Given the description of an element on the screen output the (x, y) to click on. 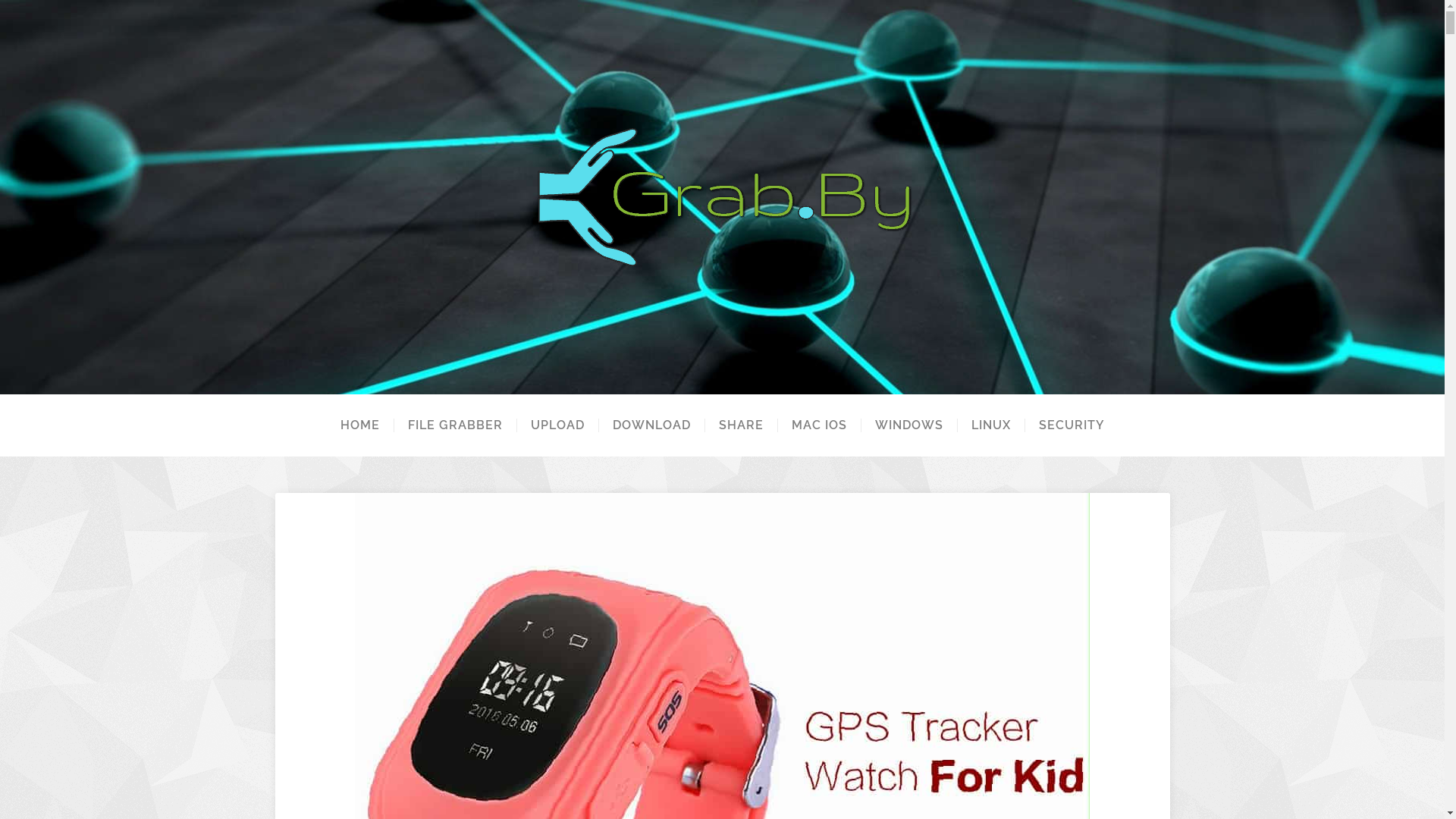
SECURITY Element type: text (1070, 425)
SHARE Element type: text (739, 425)
LINUX Element type: text (990, 425)
HOME Element type: text (359, 425)
DOWNLOAD Element type: text (650, 425)
FILE GRABBER Element type: text (453, 425)
MAC IOS Element type: text (817, 425)
UPLOAD Element type: text (556, 425)
Grab By Element type: text (722, 197)
WINDOWS Element type: text (907, 425)
